Given the description of an element on the screen output the (x, y) to click on. 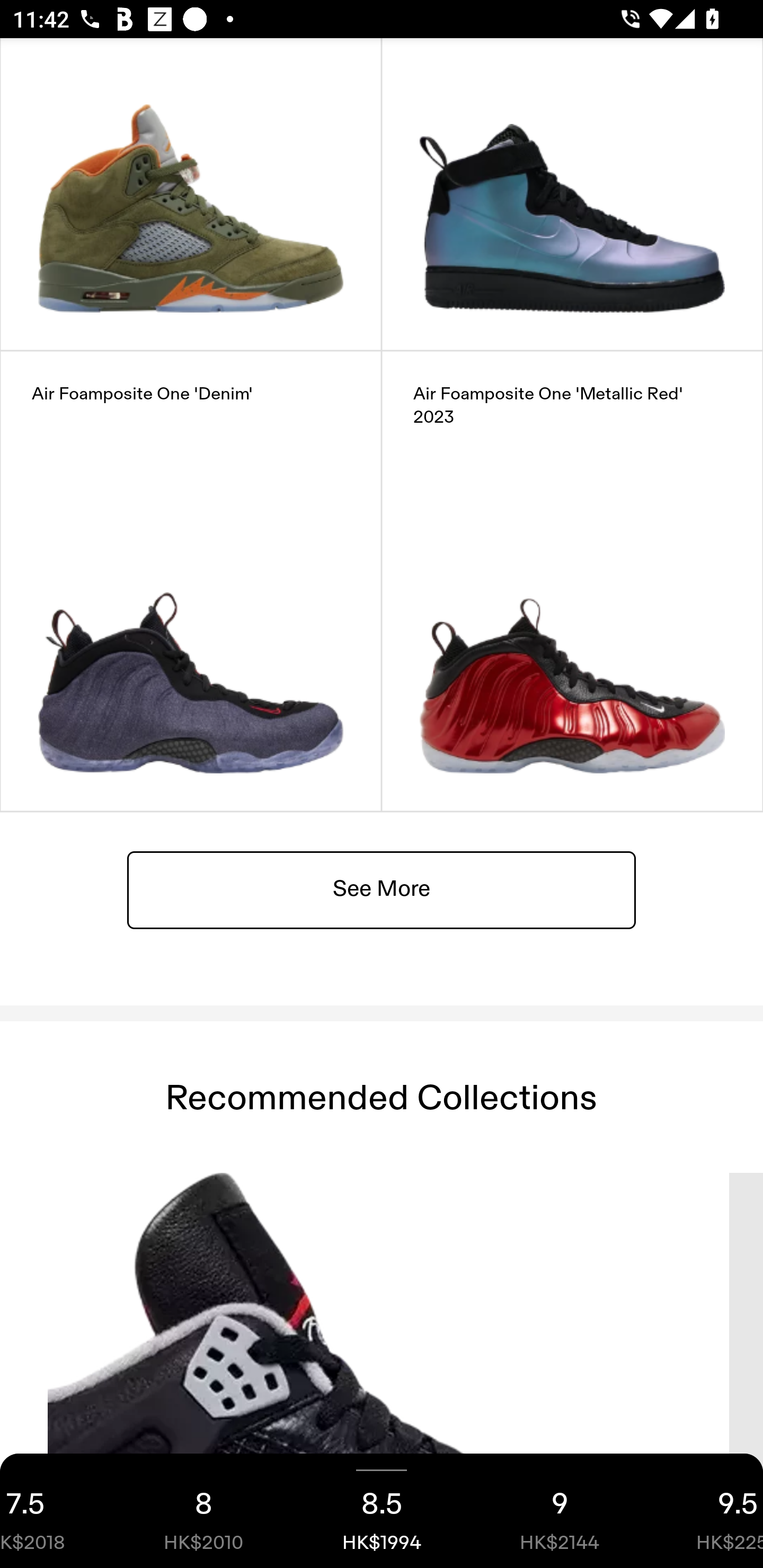
Air Foamposite One 'Denim' (190, 581)
Air Foamposite One 'Metallic Red' 2023 (572, 581)
See More (381, 889)
7.5 HK$2018 (57, 1510)
8 HK$2010 (203, 1510)
8.5 HK$1994 (381, 1510)
9 HK$2144 (559, 1510)
9.5 HK$2255 (705, 1510)
